Given the description of an element on the screen output the (x, y) to click on. 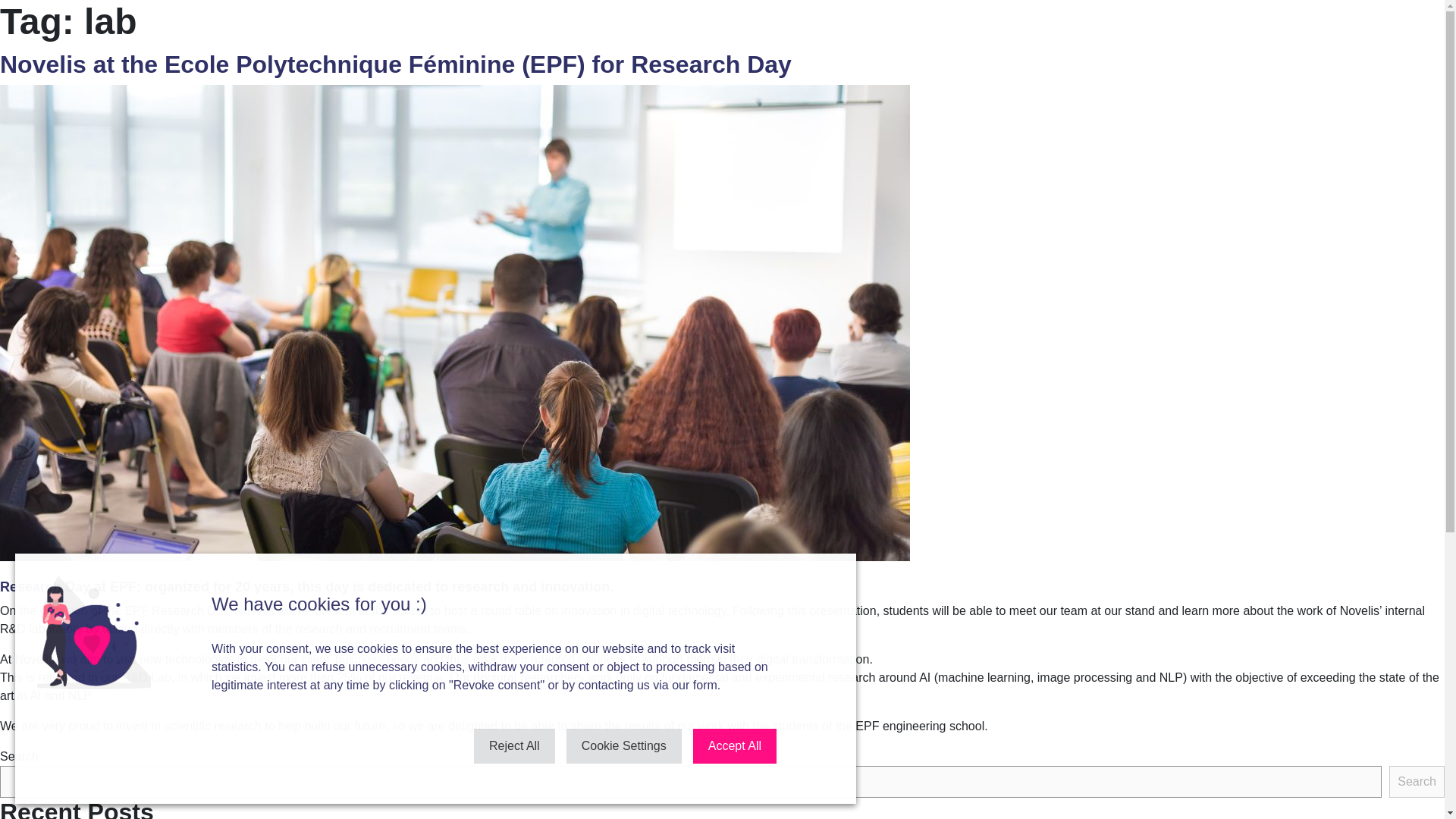
Accept All (734, 745)
our work (700, 725)
Cookie Settings (623, 745)
Research Day at EPF (68, 586)
Reject All (514, 745)
